Given the description of an element on the screen output the (x, y) to click on. 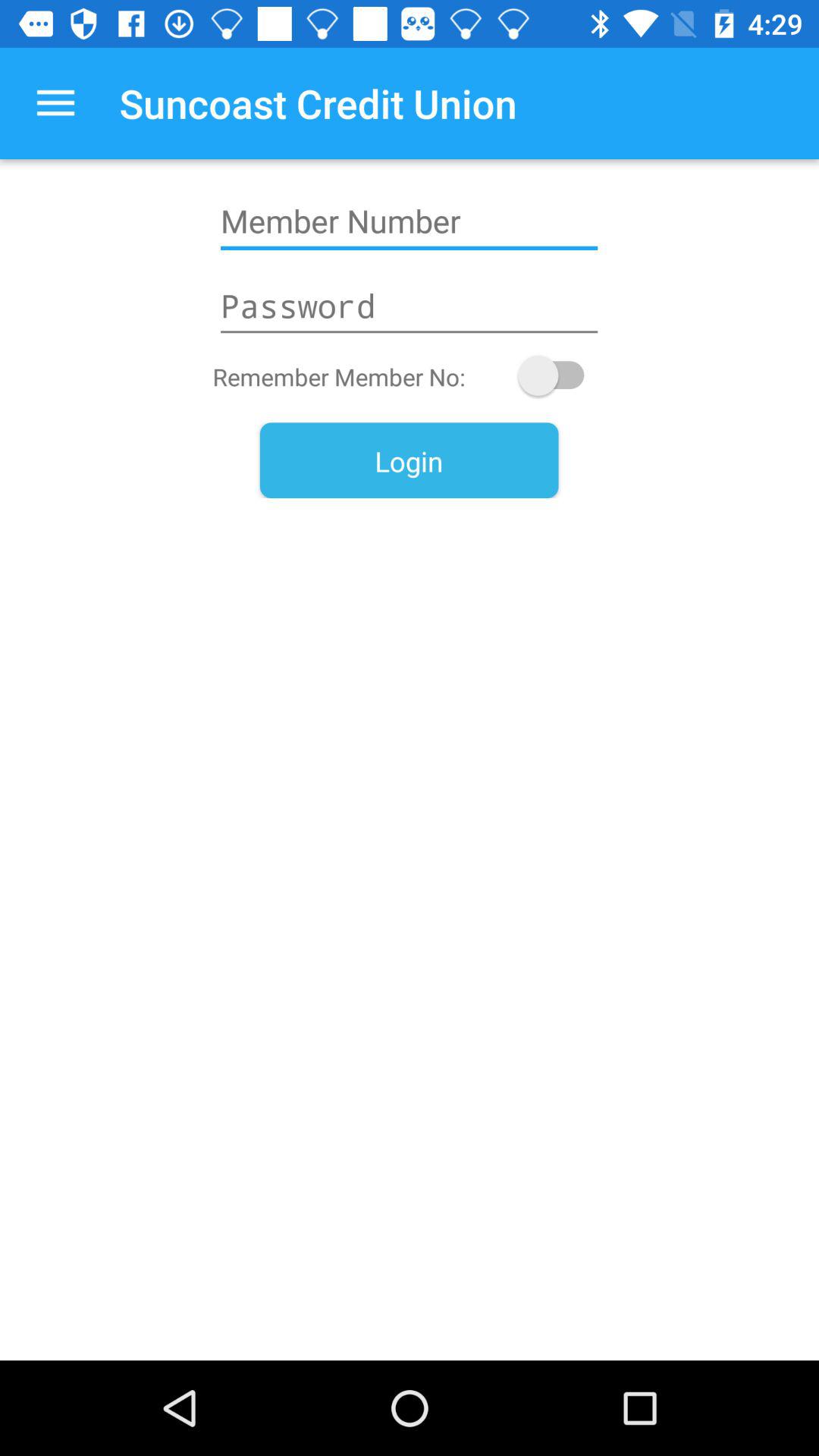
remember member number (558, 375)
